Given the description of an element on the screen output the (x, y) to click on. 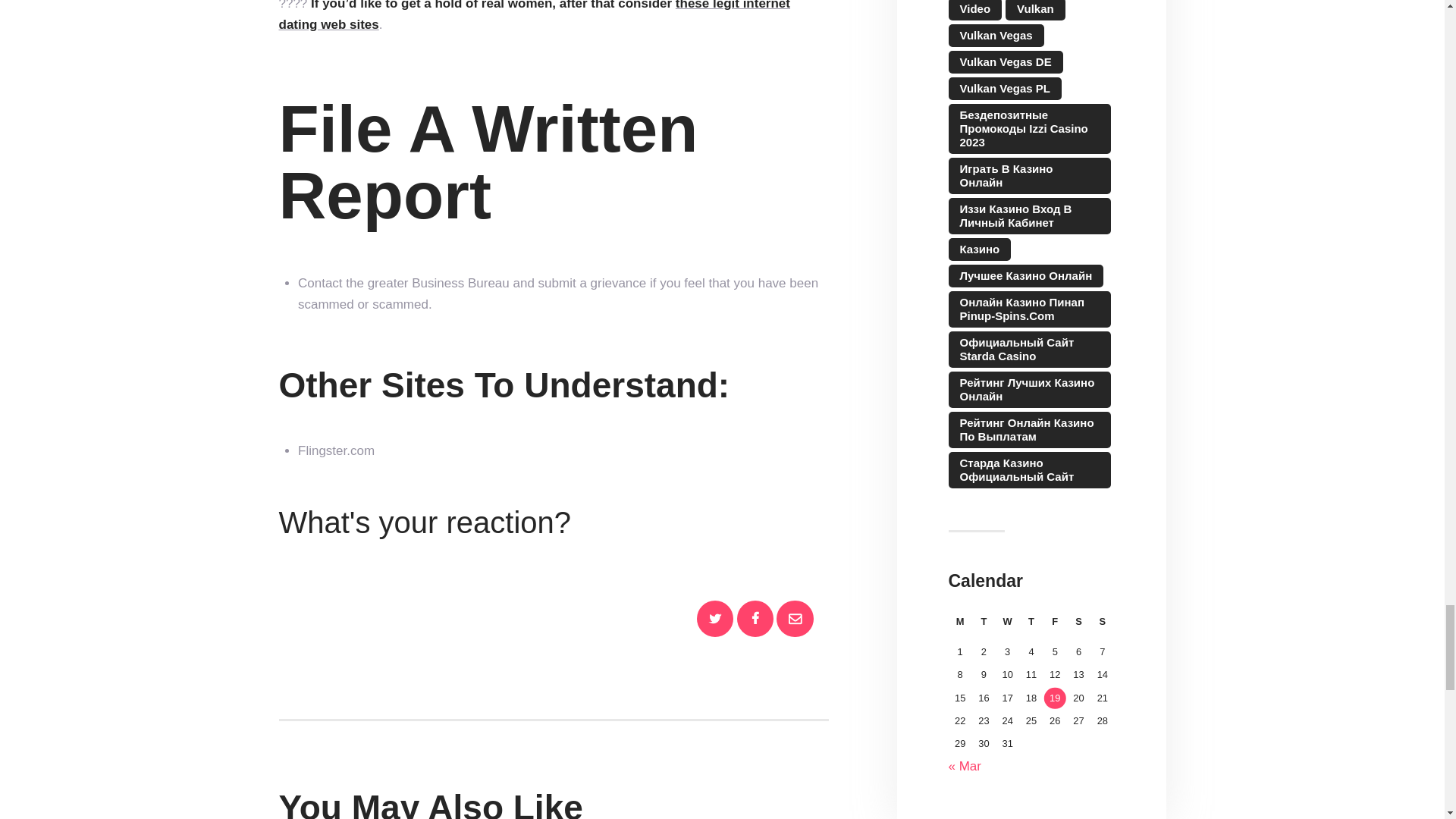
Thursday (1030, 626)
Wednesday (1007, 626)
Sunday (1101, 626)
Friday (1055, 626)
Saturday (1078, 626)
Monday (959, 626)
Tuesday (983, 626)
